Given the description of an element on the screen output the (x, y) to click on. 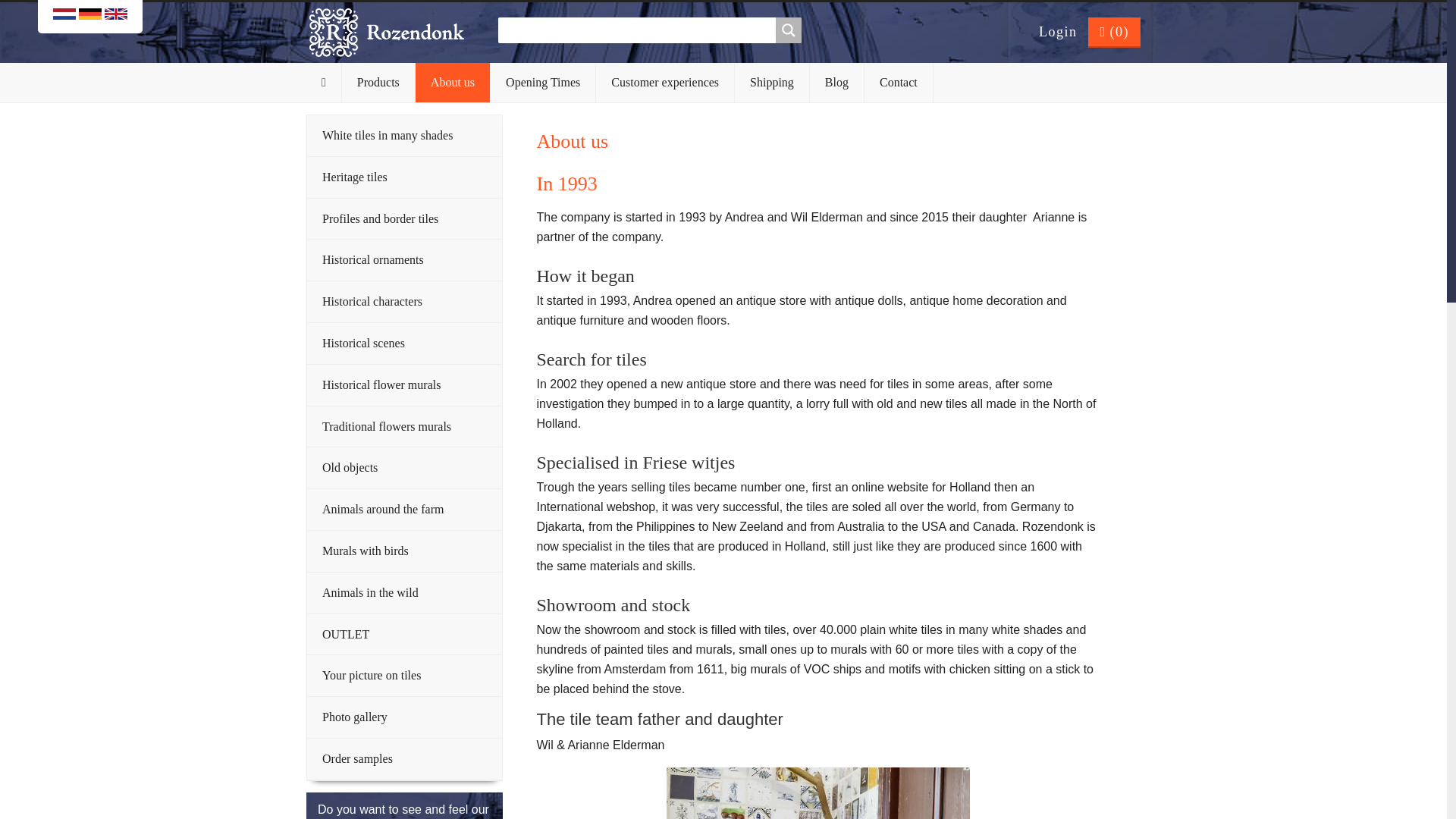
Historical characters (404, 301)
Your picture on tiles (404, 675)
Opening Times (542, 82)
White tiles in many shades (404, 136)
Historical flower murals (404, 385)
Animals in the wild (404, 593)
Heritage tiles (404, 178)
Login (1058, 32)
Profiles and border tiles (404, 219)
Old objects (404, 467)
Blog (836, 82)
Order samples (404, 759)
Customer experiences (665, 82)
Products (378, 82)
Photo gallery (404, 717)
